Given the description of an element on the screen output the (x, y) to click on. 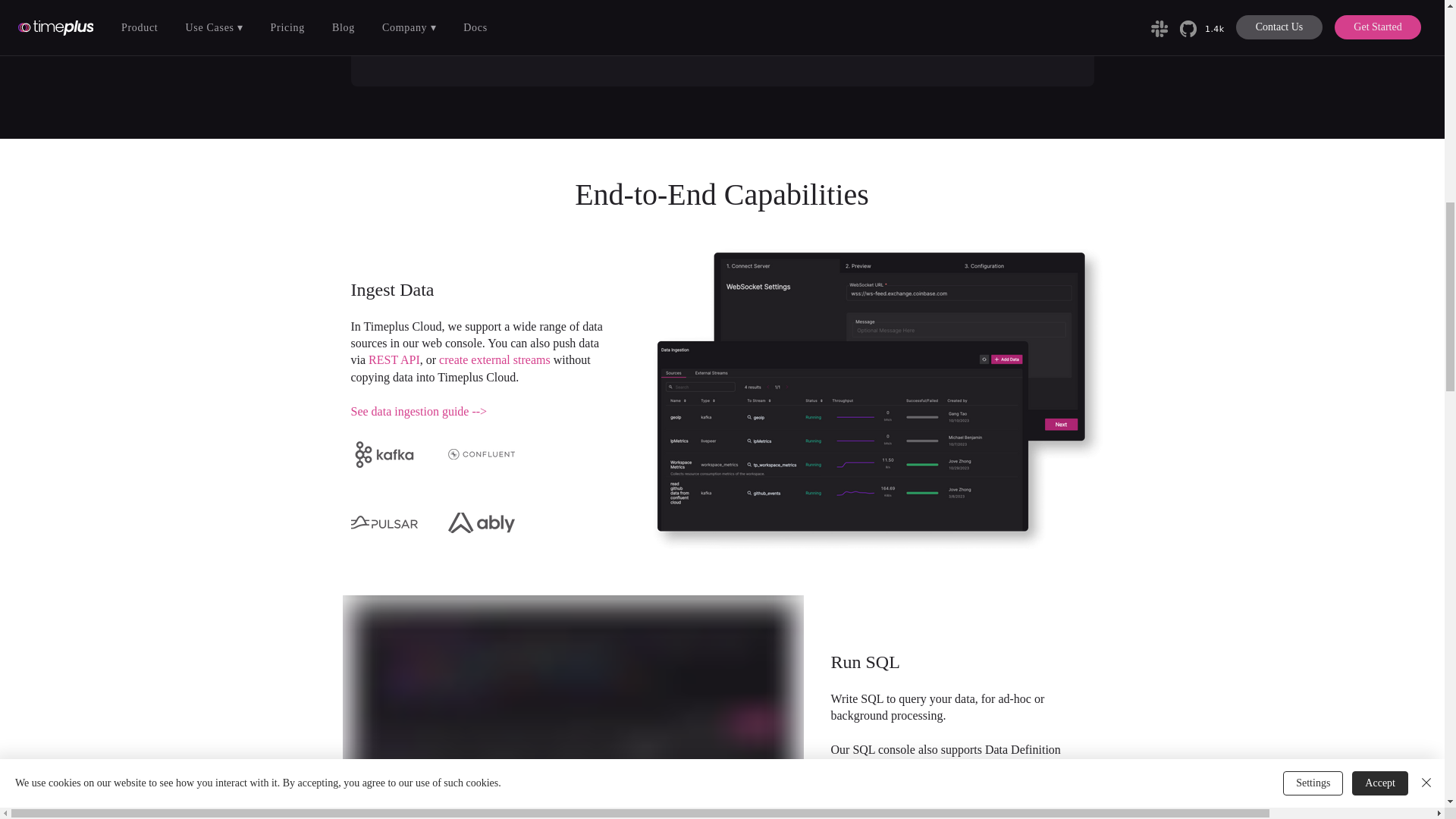
create external streams (494, 359)
REST API (394, 359)
